Given the description of an element on the screen output the (x, y) to click on. 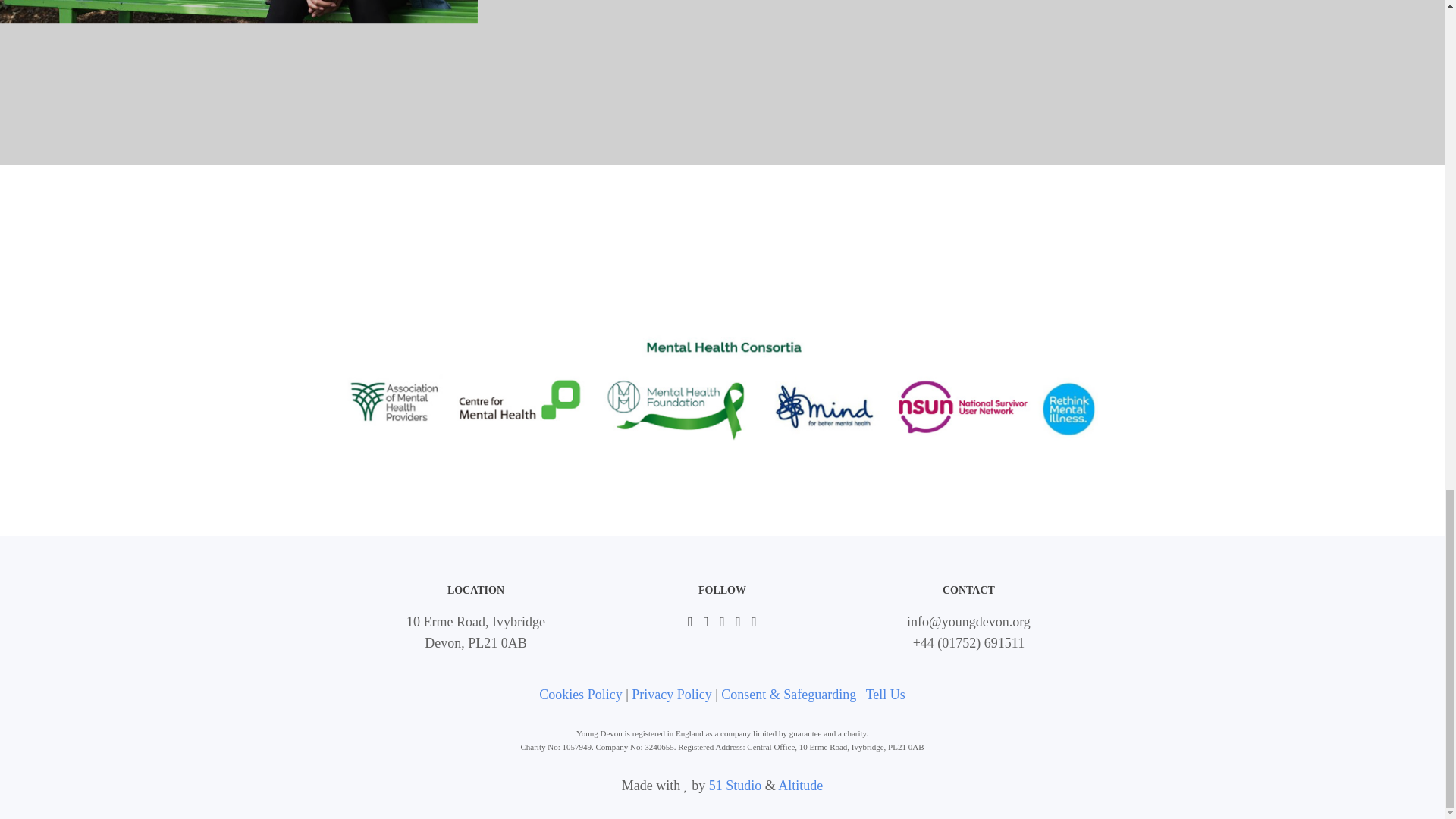
Altitude (799, 785)
51 Studio (735, 785)
Cookies Policy (580, 694)
Tell Us (885, 694)
Privacy Policy (671, 694)
